Given the description of an element on the screen output the (x, y) to click on. 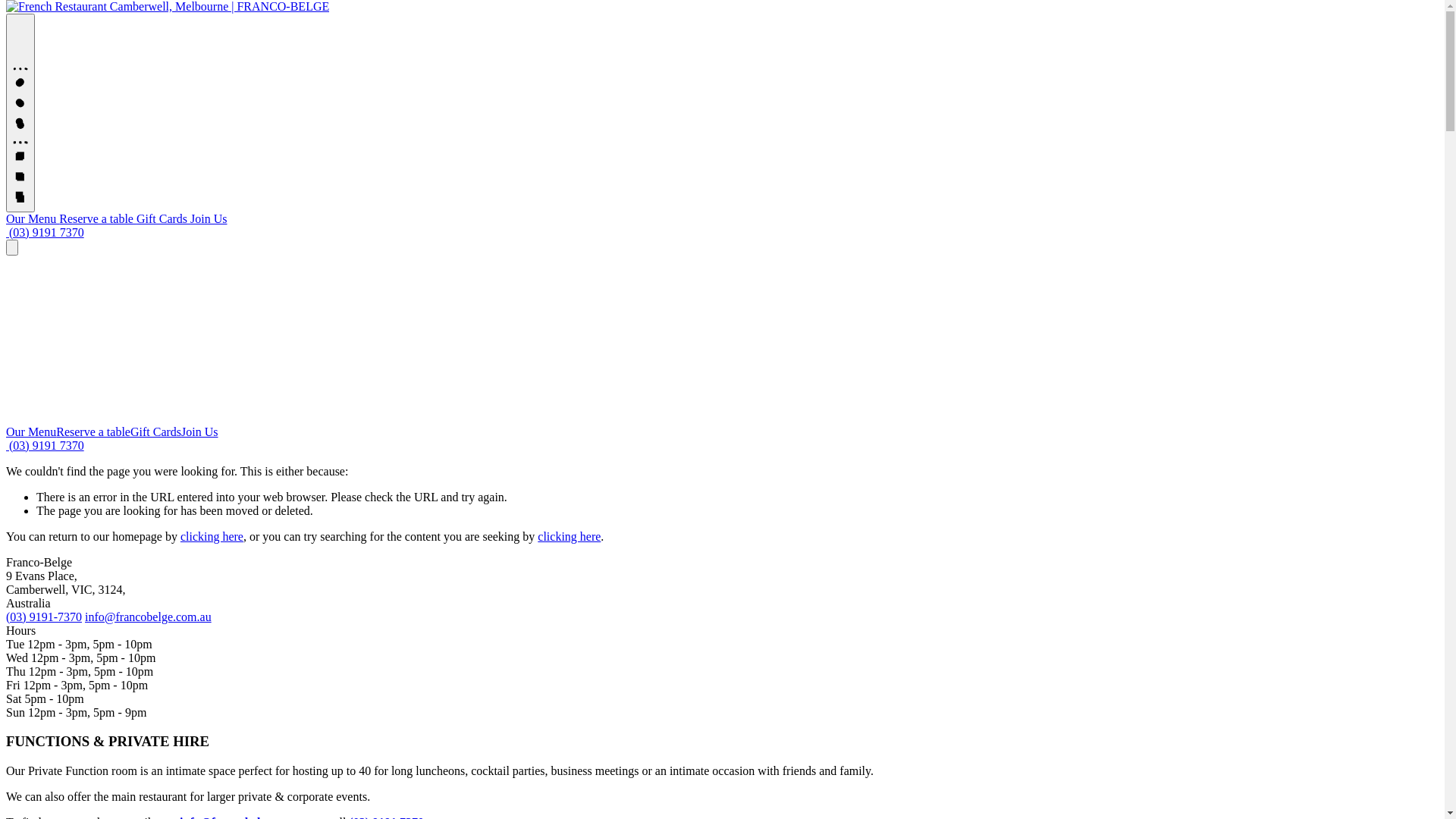
 (03) 9191 7370 Element type: text (45, 231)
clicking here Element type: text (568, 536)
Our Menu Element type: text (31, 431)
info@francobelge.com.au Element type: text (147, 616)
 (03) 9191 7370 Element type: text (45, 445)
Reserve a table Element type: text (93, 431)
Reserve a table Element type: text (97, 218)
Gift Cards Element type: text (155, 431)
Our Menu Element type: text (32, 218)
(03) 9191-7370 Element type: text (43, 616)
Join Us Element type: text (208, 218)
Gift Cards Element type: text (163, 218)
Join Us Element type: text (199, 431)
clicking here Element type: text (211, 536)
